Given the description of an element on the screen output the (x, y) to click on. 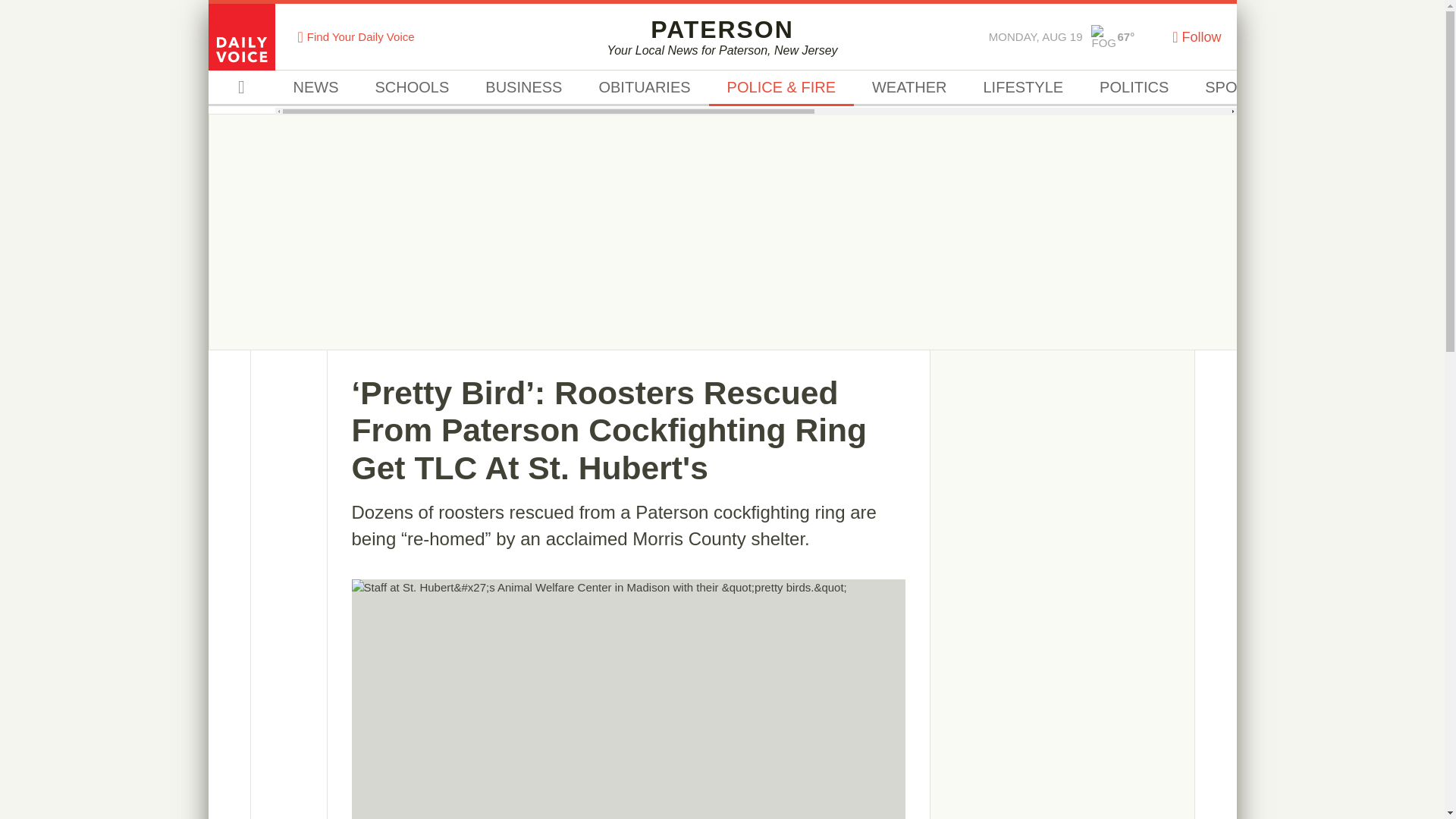
POLITICS (1133, 88)
LIFESTYLE (1022, 88)
SCHOOLS (411, 88)
BUSINESS (523, 88)
OBITUARIES (643, 88)
EVENTS (1333, 88)
WEATHER (722, 36)
SPORTS (909, 88)
NEWS (1235, 88)
